Given the description of an element on the screen output the (x, y) to click on. 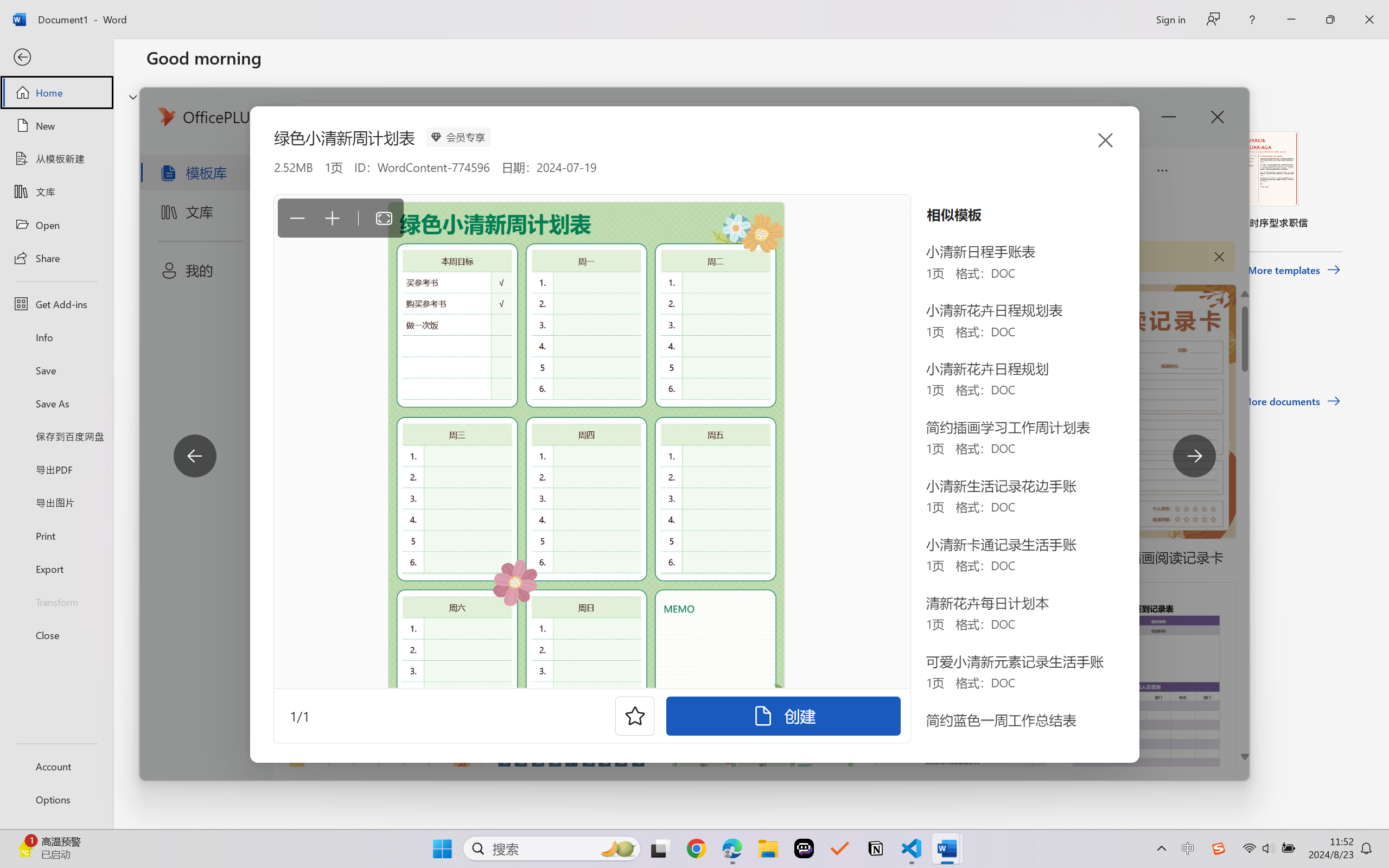
Pinned (226, 345)
Sign in (1170, 18)
More documents (1290, 401)
Save As (56, 403)
Recent (171, 345)
Options (56, 798)
Shared with Me (305, 345)
Get Add-ins (56, 303)
More templates (1293, 270)
